Given the description of an element on the screen output the (x, y) to click on. 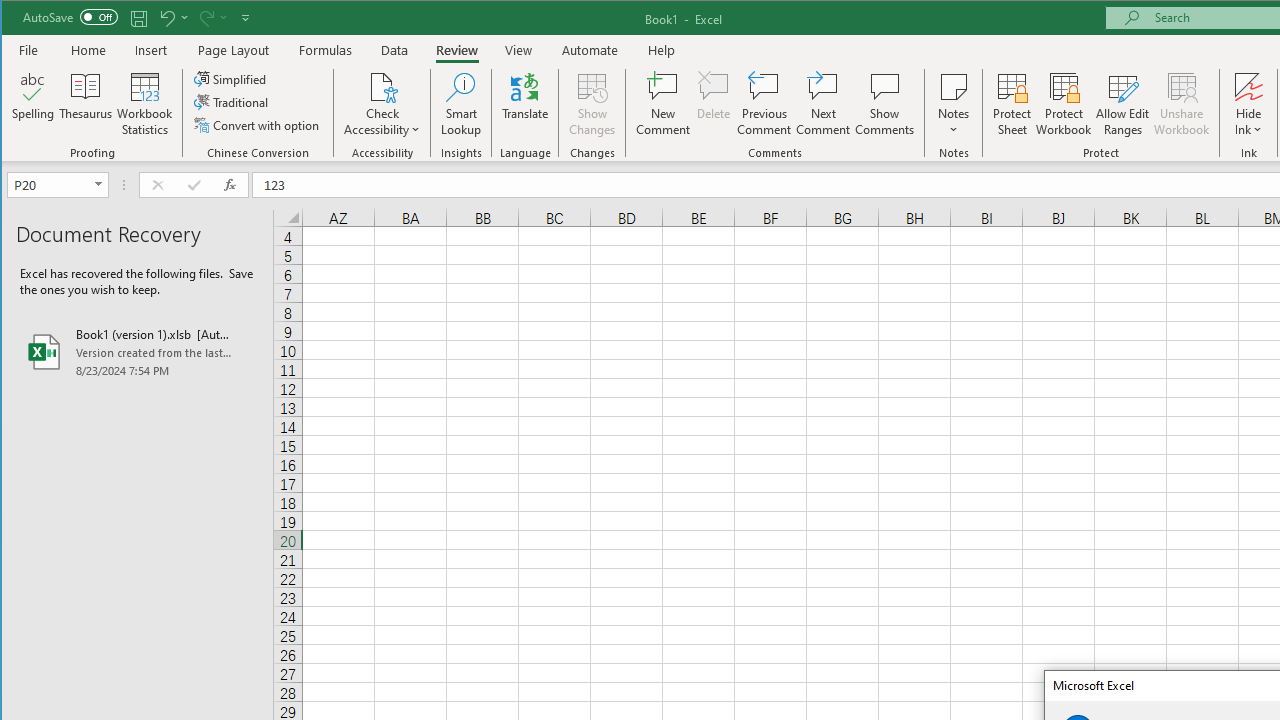
Protect Sheet... (1012, 104)
Next Comment (822, 104)
Delete (713, 104)
Simplified (231, 78)
Hide Ink (1248, 86)
Traditional (232, 101)
Convert with option (258, 124)
New Comment (662, 104)
Translate (525, 104)
